Given the description of an element on the screen output the (x, y) to click on. 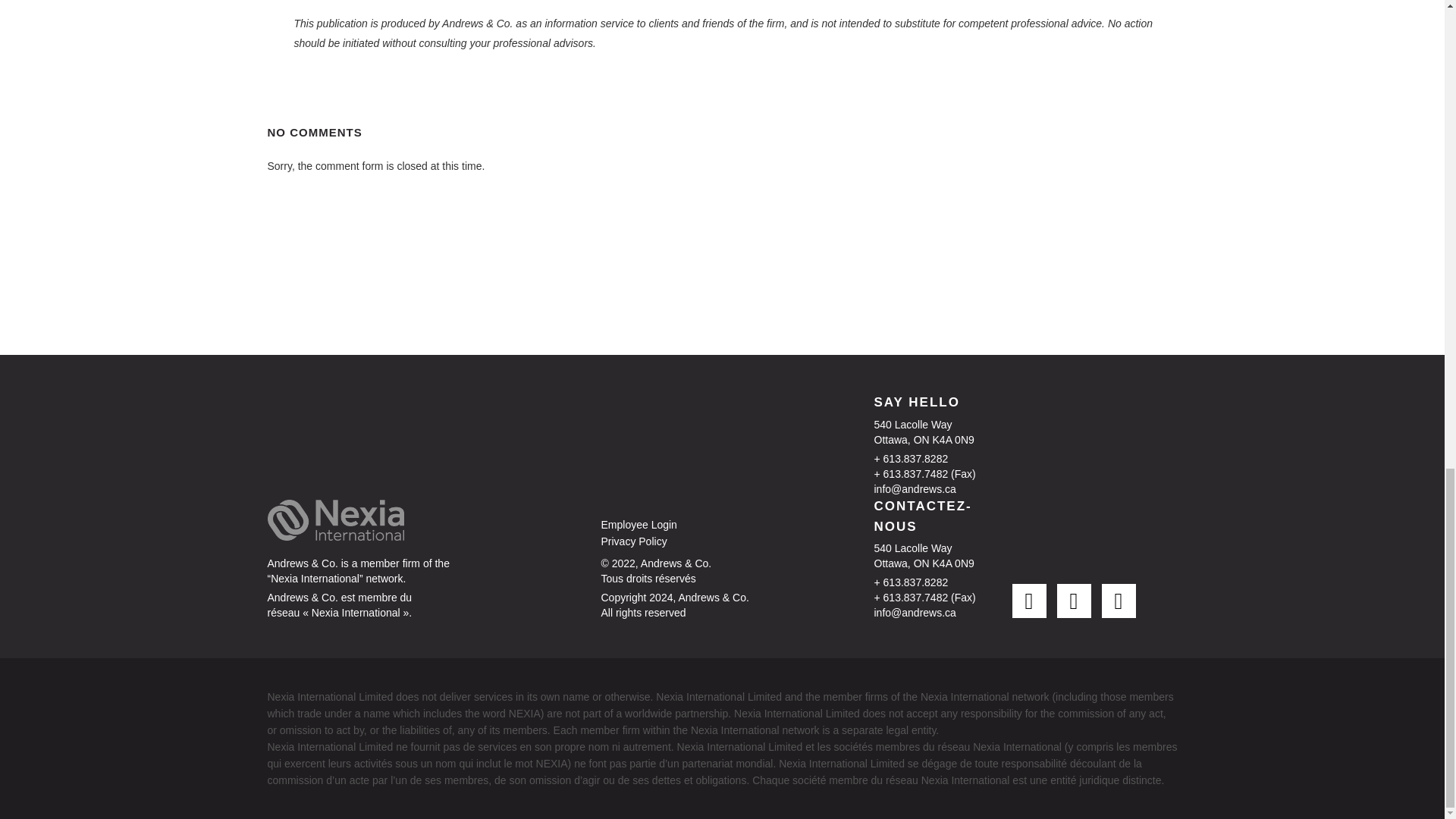
Privacy Policy (673, 541)
Employee Login (673, 524)
